Given the description of an element on the screen output the (x, y) to click on. 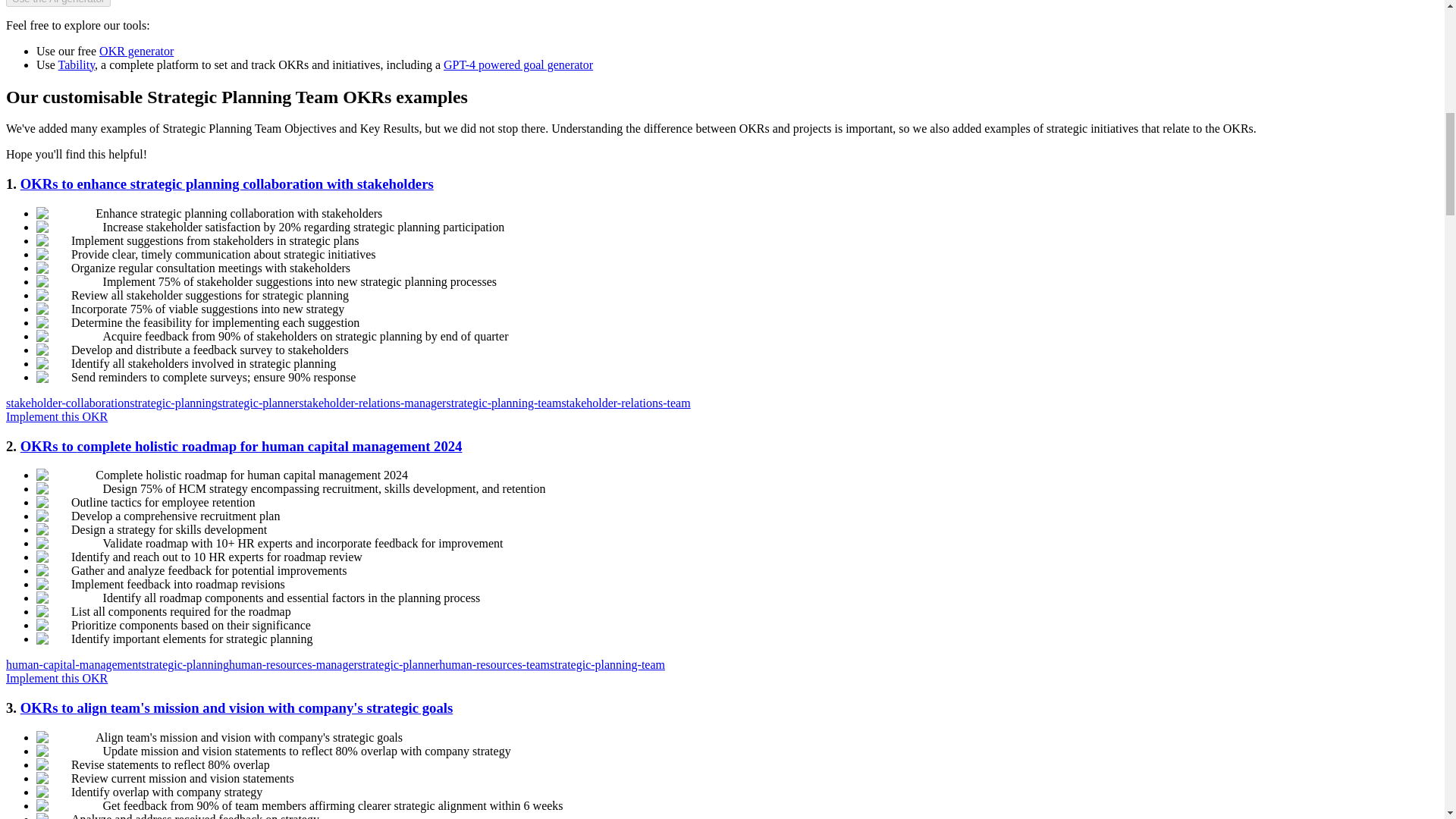
strategic-planning-team (502, 402)
strategic-planning (172, 402)
OKR generator (136, 51)
stakeholder-collaboration (67, 402)
Use the AI generator (57, 3)
GPT-4 powered goal generator (518, 64)
strategic-planning-team (607, 664)
strategic-planning (185, 664)
